Given the description of an element on the screen output the (x, y) to click on. 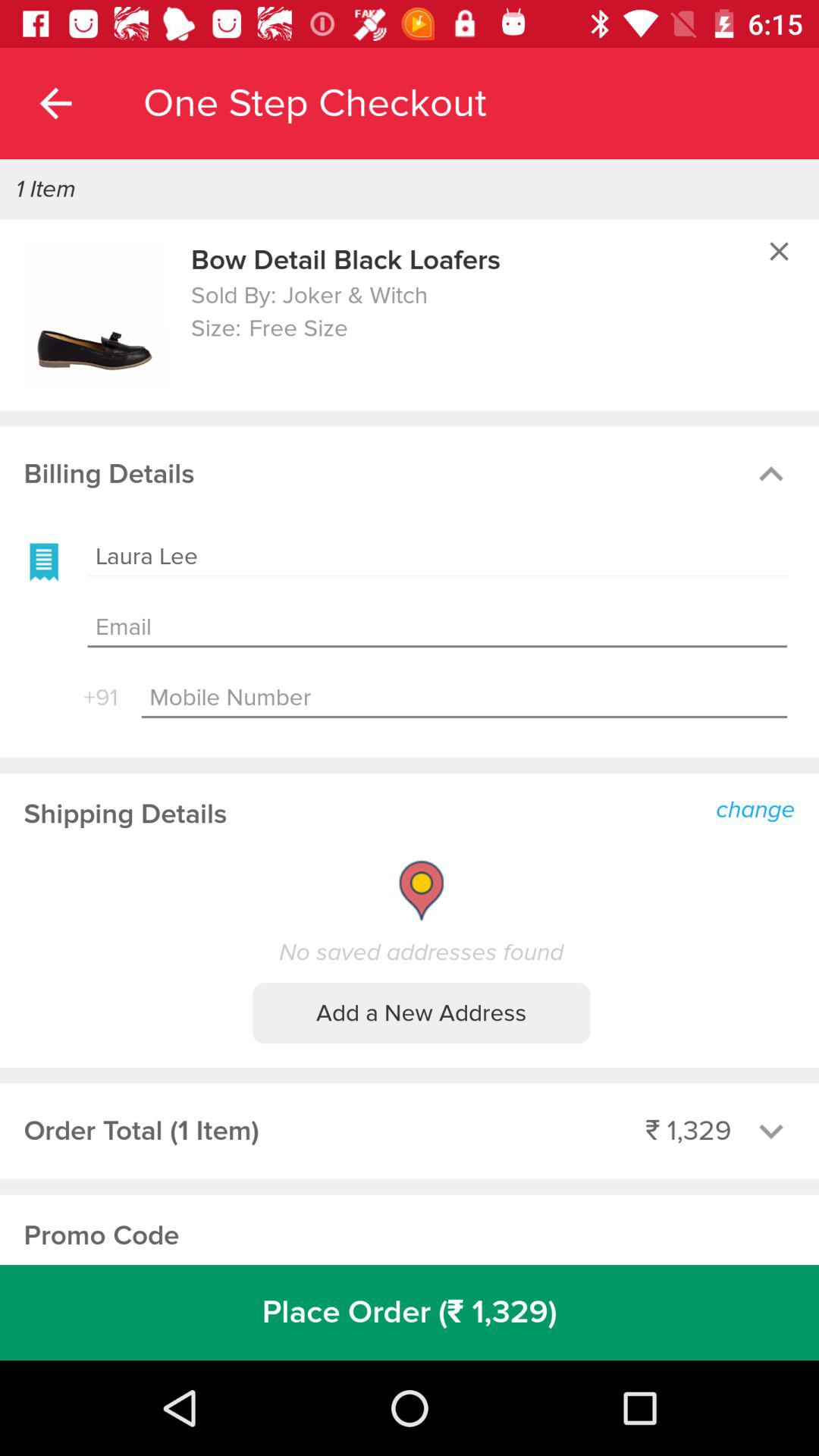
close window (779, 251)
